Given the description of an element on the screen output the (x, y) to click on. 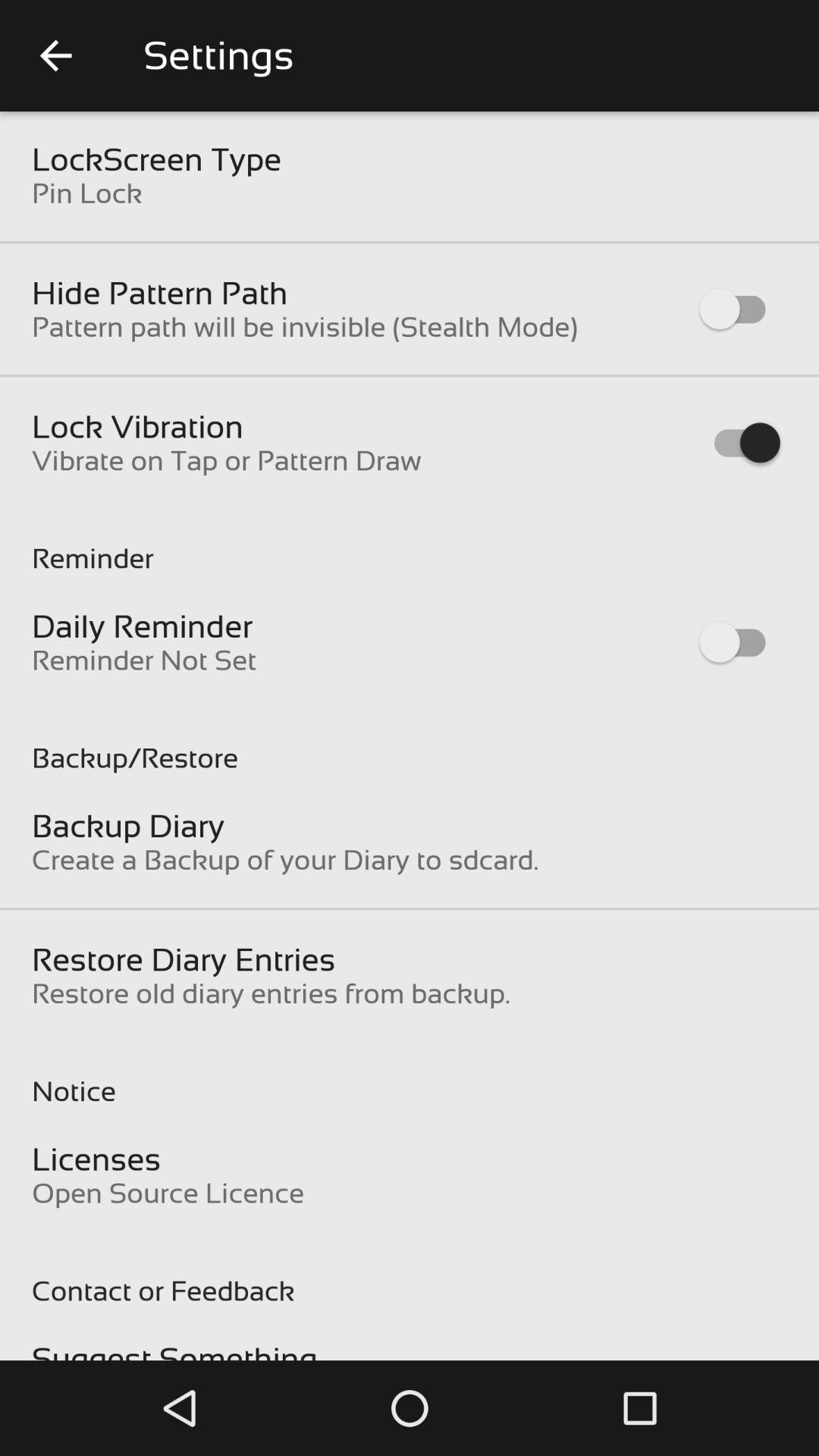
press icon above the lockscreen type icon (55, 55)
